Given the description of an element on the screen output the (x, y) to click on. 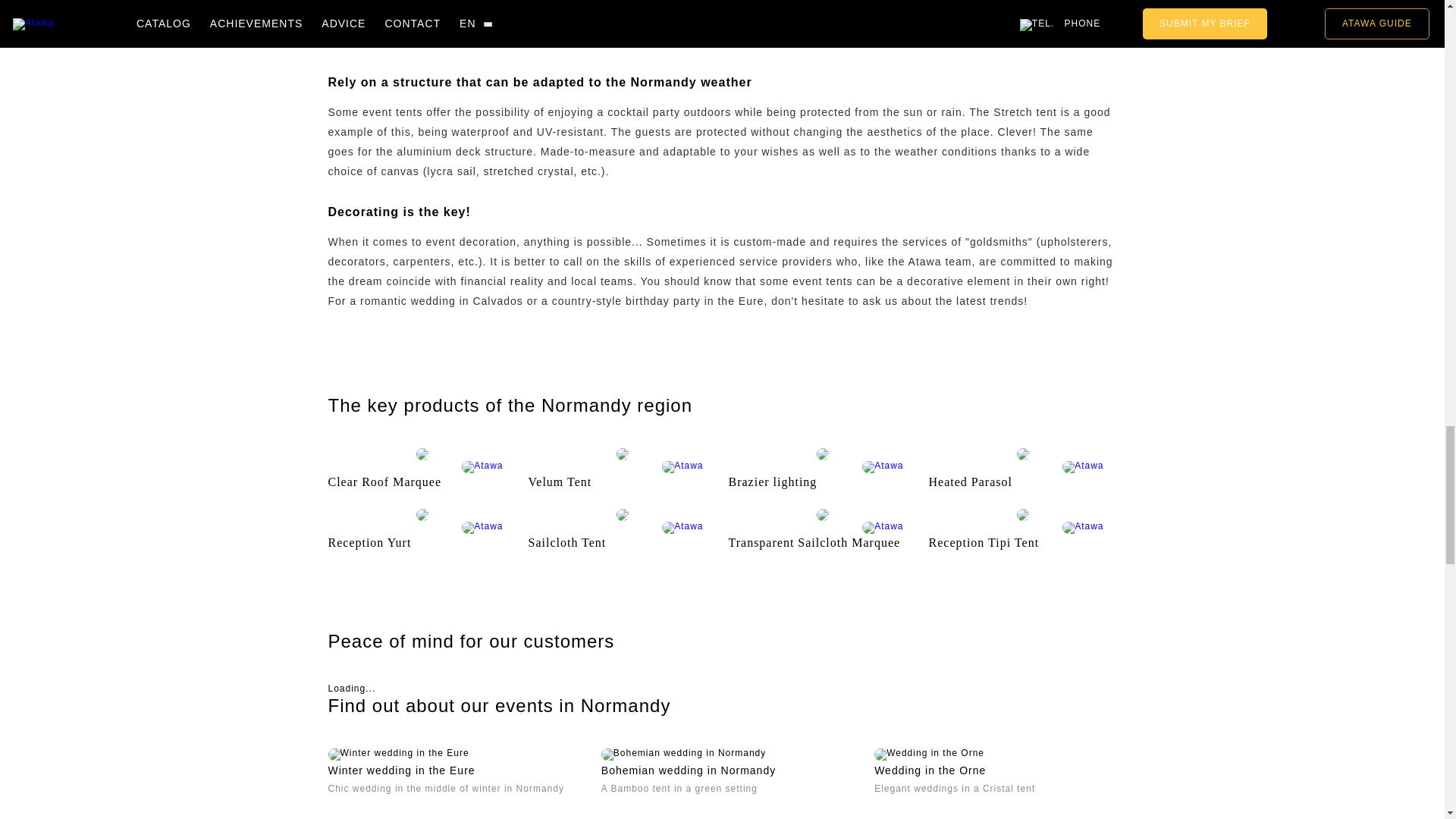
Winter wedding in the Eure (397, 754)
Atawa (881, 527)
Atawa (881, 467)
Bohemian wedding in Normandy (683, 754)
Atawa (481, 527)
Atawa (682, 527)
Atawa (682, 467)
Atawa (1082, 467)
Wedding in the Orne (929, 754)
Atawa (481, 467)
